Given the description of an element on the screen output the (x, y) to click on. 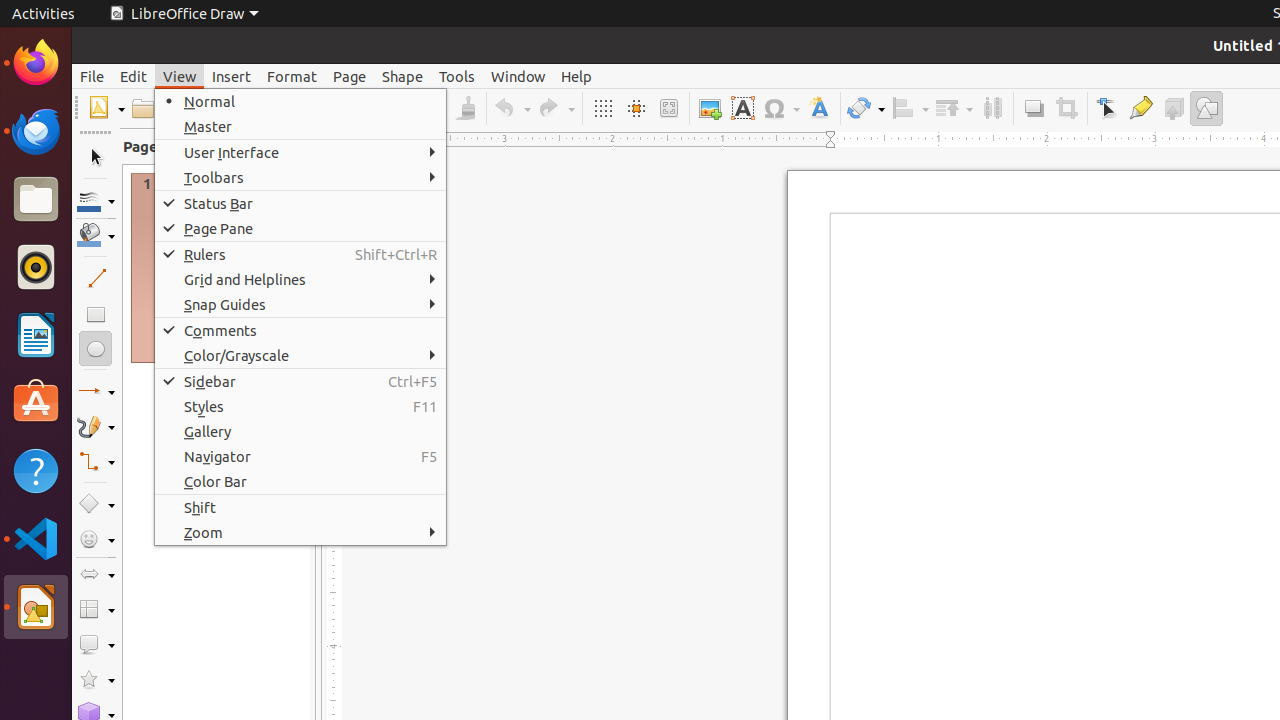
Insert Element type: menu (231, 76)
Master Element type: radio-menu-item (300, 126)
Format Element type: menu (292, 76)
Status Bar Element type: check-menu-item (300, 203)
Normal Element type: radio-menu-item (300, 101)
